Given the description of an element on the screen output the (x, y) to click on. 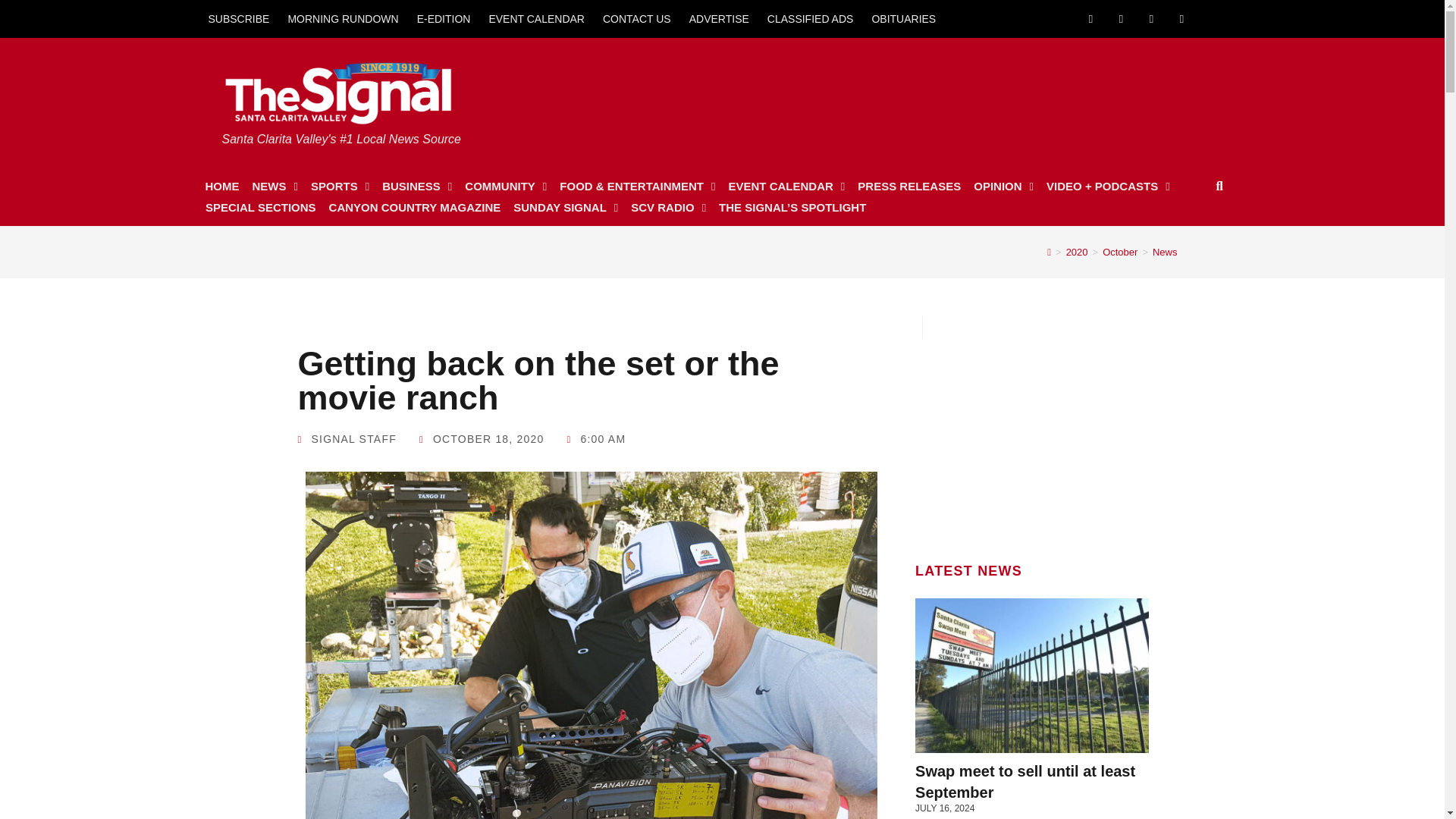
NEWS (274, 186)
MORNING RUNDOWN (342, 18)
SUBSCRIBE (238, 18)
EVENT CALENDAR (536, 18)
CONTACT US (636, 18)
HOME (221, 186)
OBITUARIES (902, 18)
E-EDITION (443, 18)
SPORTS (339, 186)
CLASSIFIED ADS (810, 18)
3rd party ad content (932, 94)
3rd party ad content (1031, 433)
ADVERTISE (718, 18)
